Given the description of an element on the screen output the (x, y) to click on. 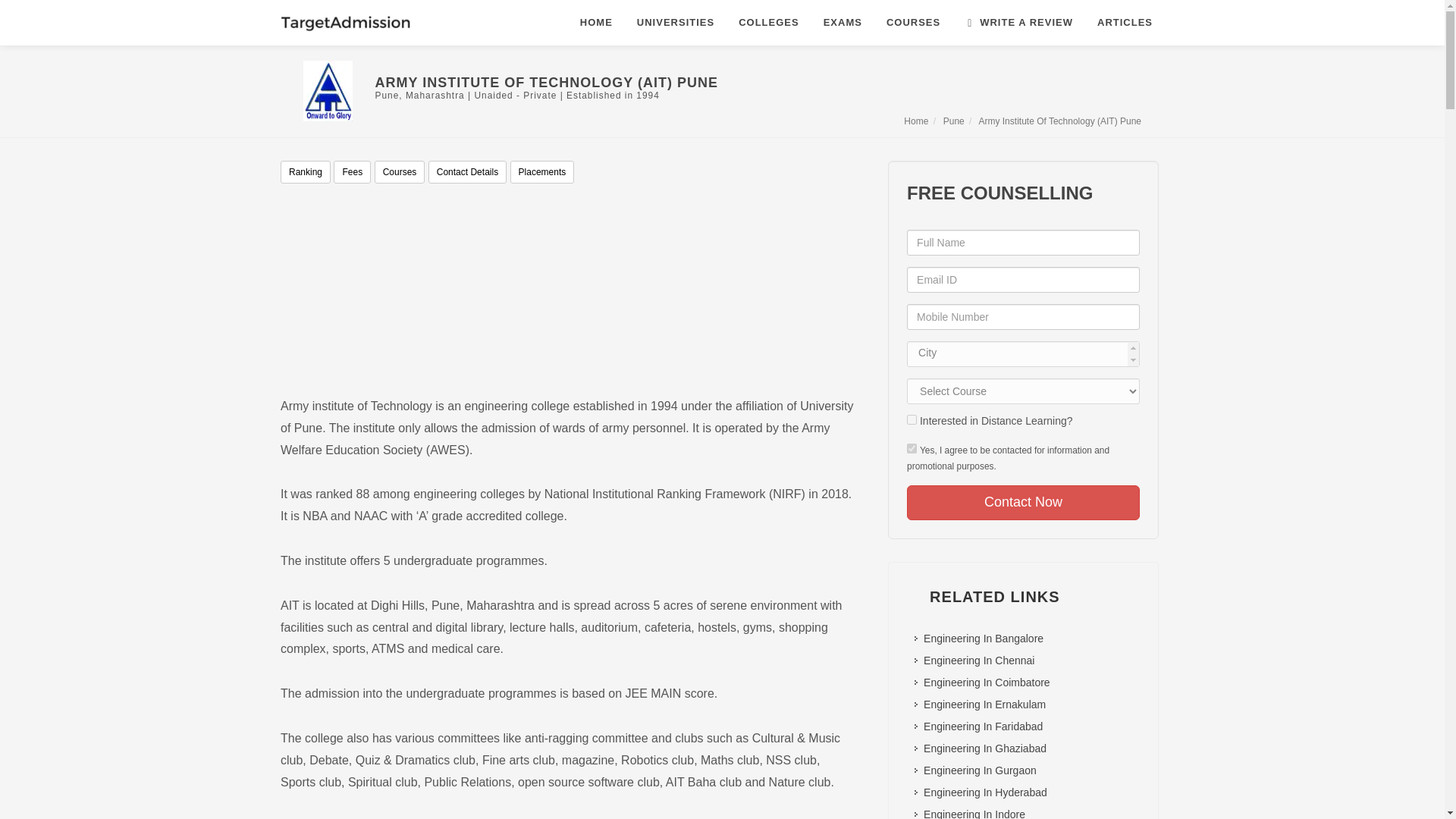
COLLEGES (768, 22)
UNIVERSITIES (675, 22)
on (912, 419)
Ranking (305, 171)
ARTICLES (1124, 22)
TargetAdmission.com (345, 22)
Placements (543, 171)
COURSES (913, 22)
WRITE A REVIEW (1018, 22)
on (912, 448)
Fees (352, 171)
Courses (399, 171)
HOME (596, 22)
EXAMS (842, 22)
Home (917, 120)
